Given the description of an element on the screen output the (x, y) to click on. 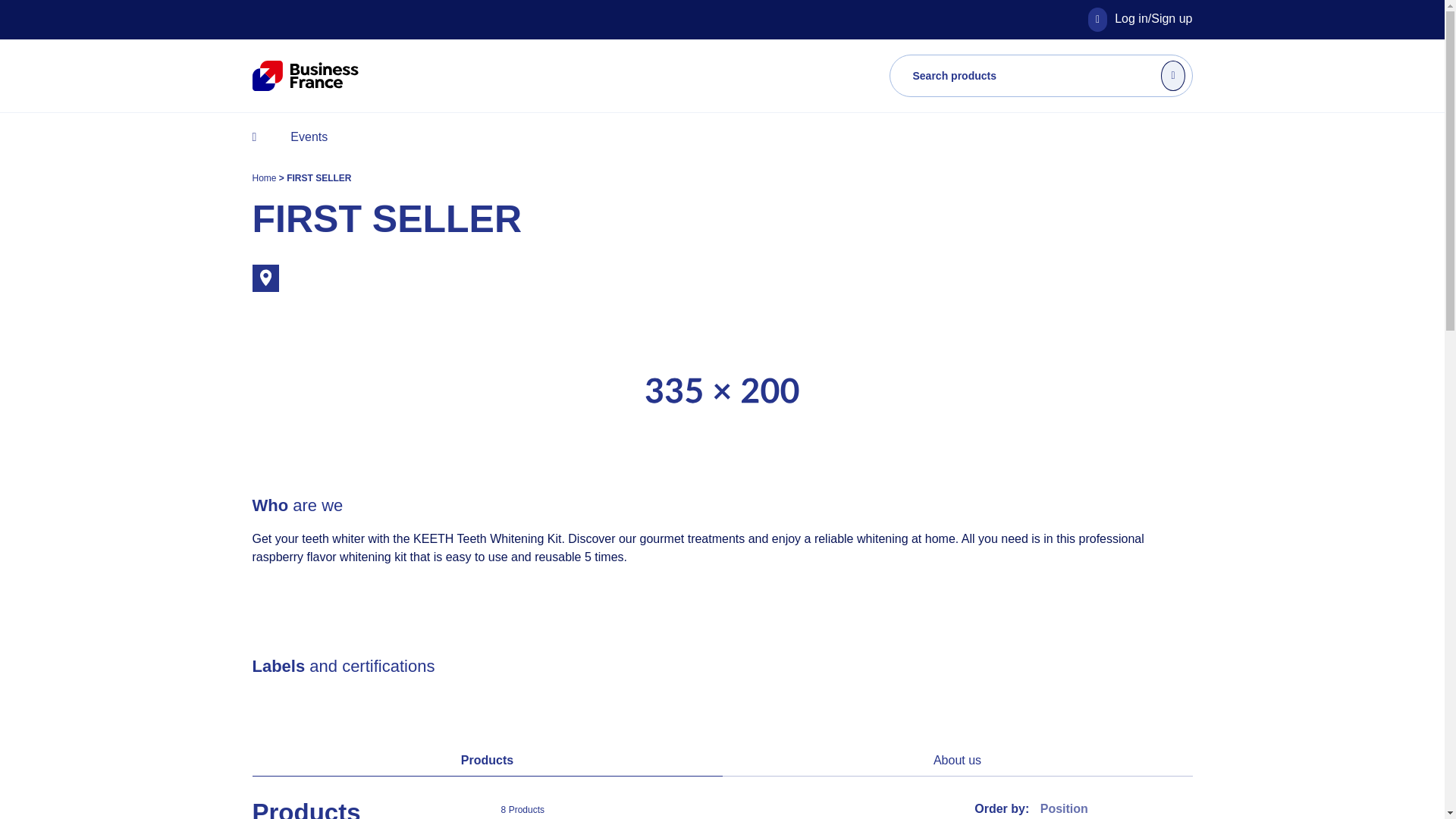
Products (487, 759)
Home (264, 177)
Home (264, 177)
Events (308, 136)
About us (957, 759)
